Given the description of an element on the screen output the (x, y) to click on. 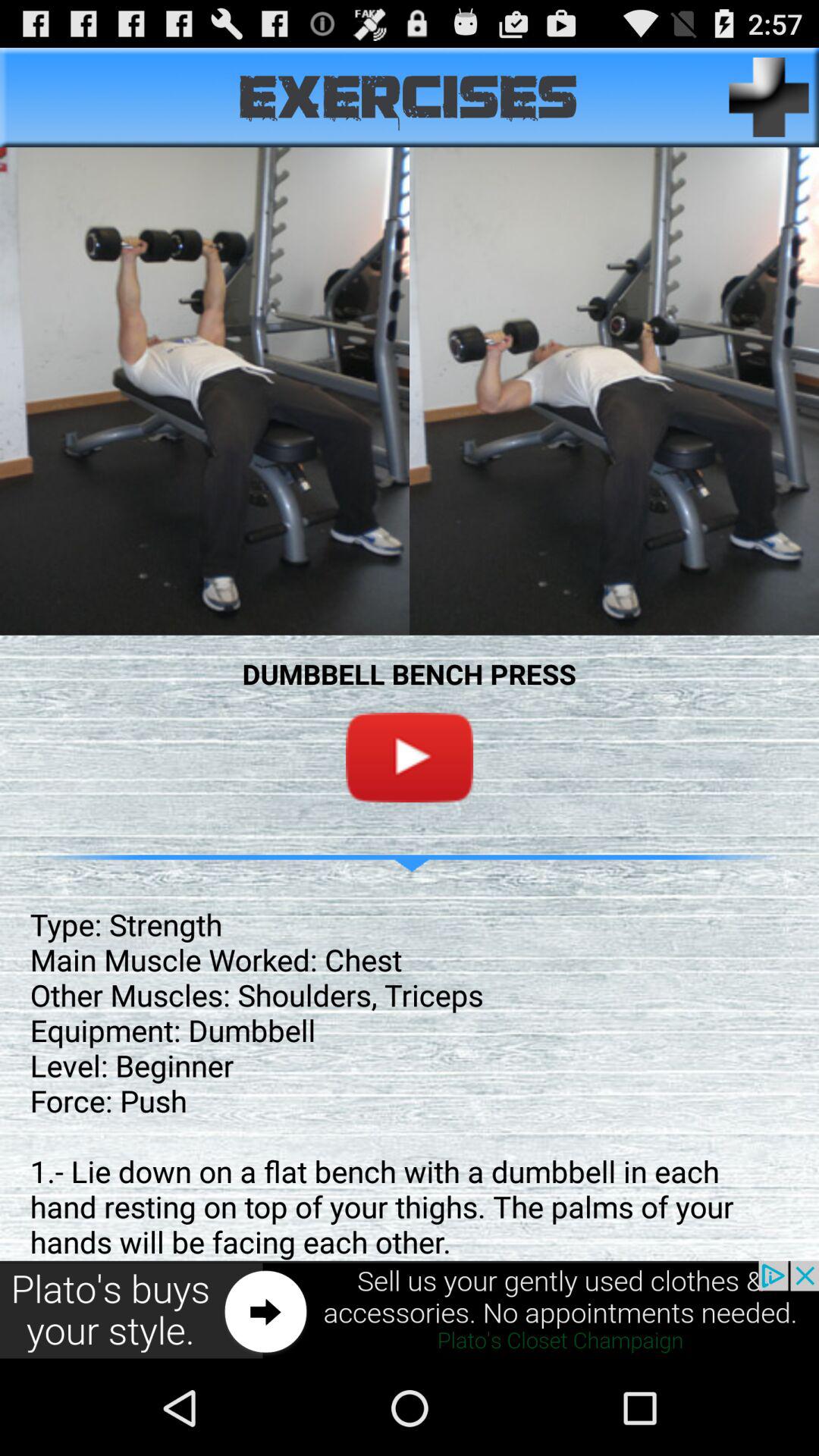
go to settings (768, 97)
